Given the description of an element on the screen output the (x, y) to click on. 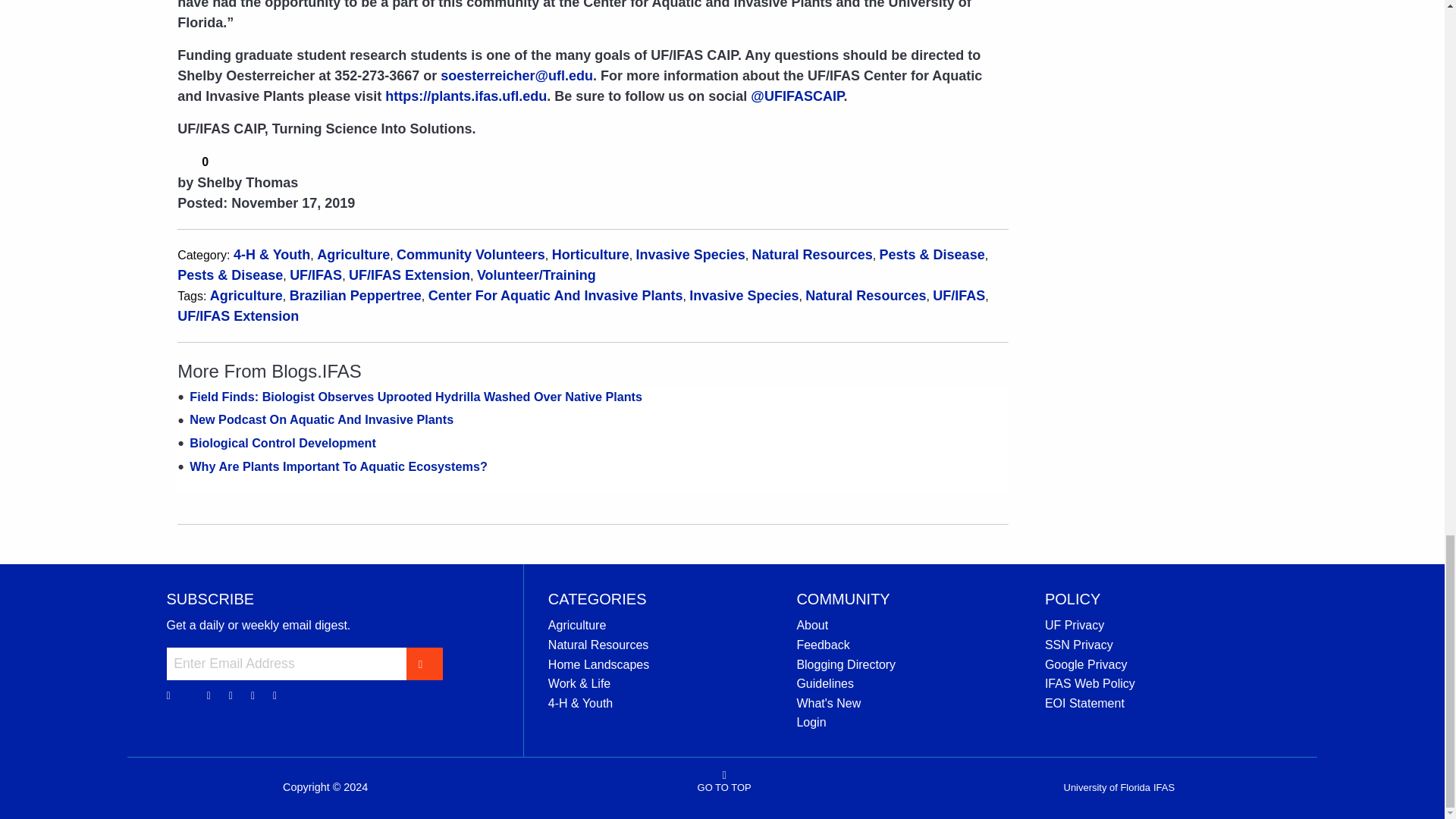
I found this post helpful (186, 160)
Enter Email Address (287, 663)
